Given the description of an element on the screen output the (x, y) to click on. 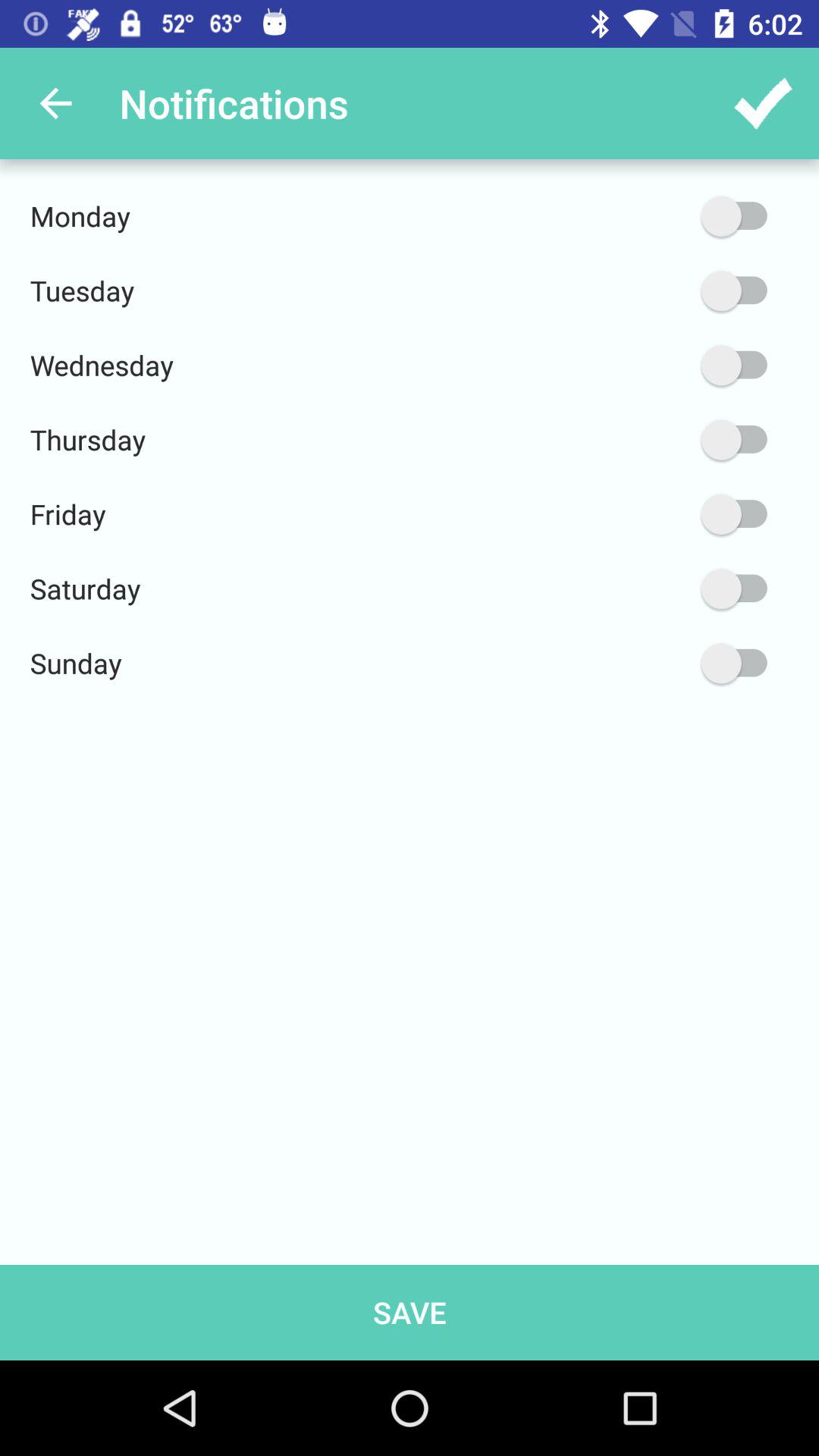
activate saturday (661, 588)
